Given the description of an element on the screen output the (x, y) to click on. 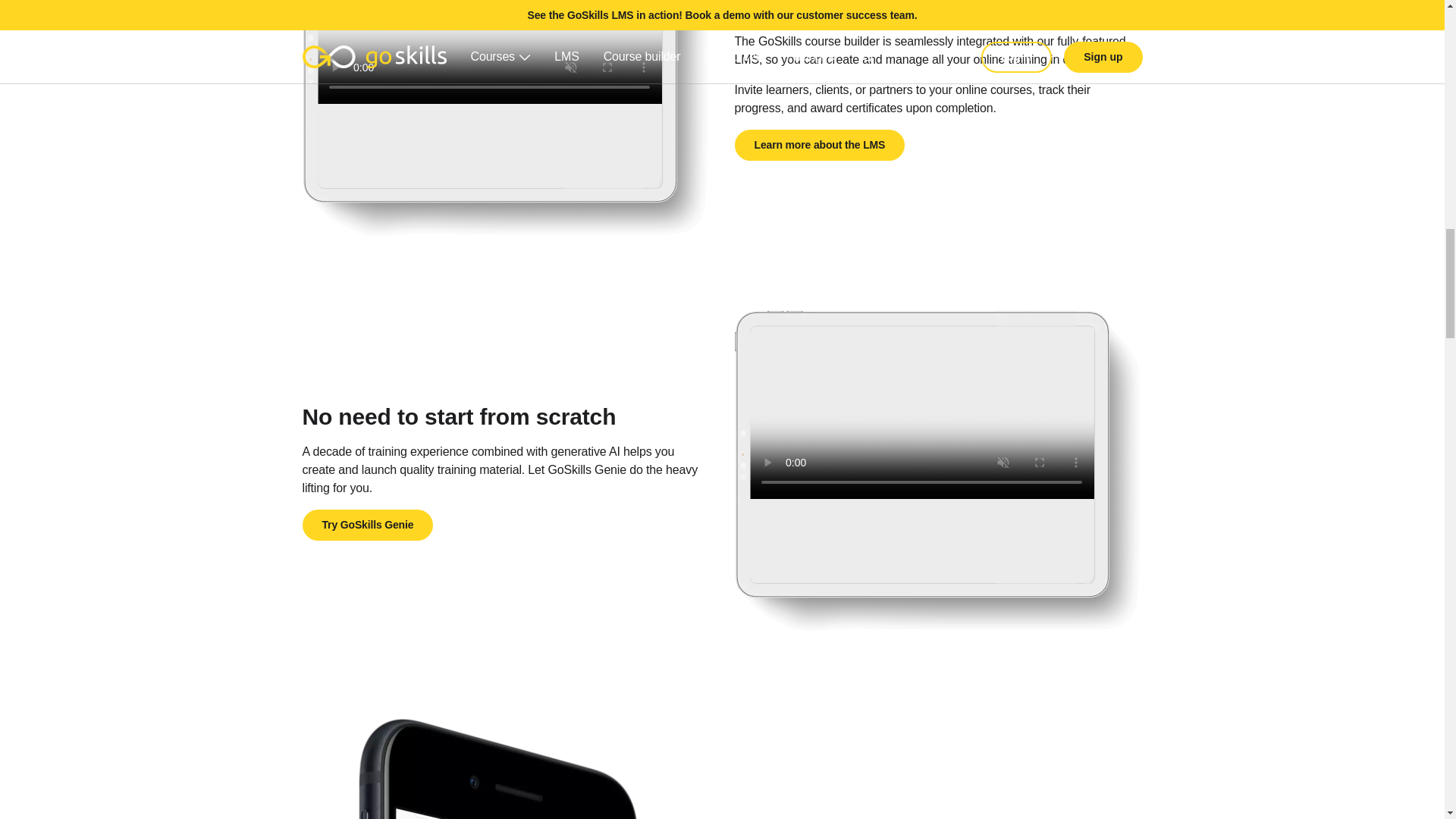
Try GoSkills Genie (366, 524)
Learn more about the LMS (818, 144)
